Given the description of an element on the screen output the (x, y) to click on. 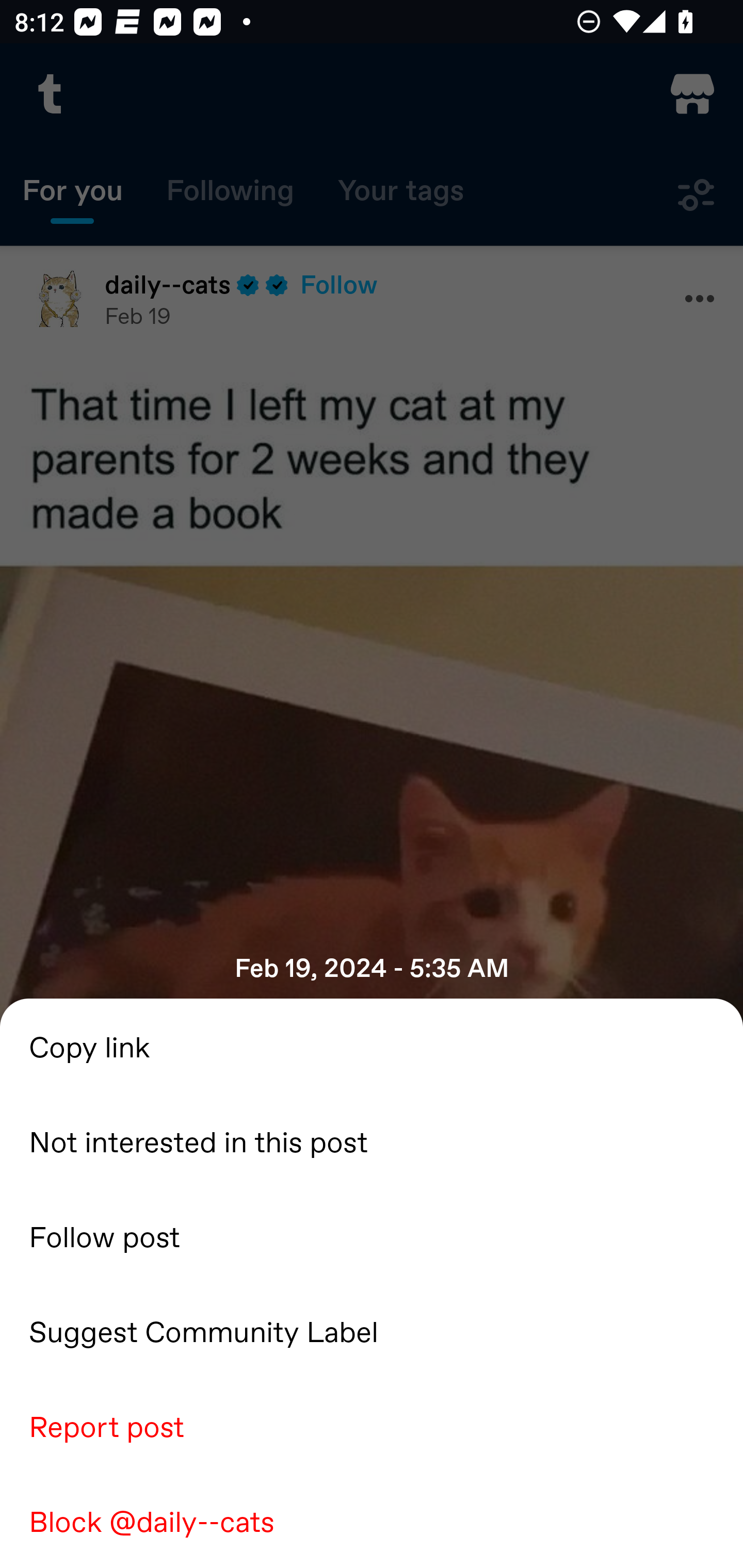
Copy link (371, 1045)
Not interested in this post (371, 1140)
Follow post (371, 1235)
Suggest Community Label (371, 1330)
Report post (371, 1425)
Block @daily--cats (371, 1520)
